Given the description of an element on the screen output the (x, y) to click on. 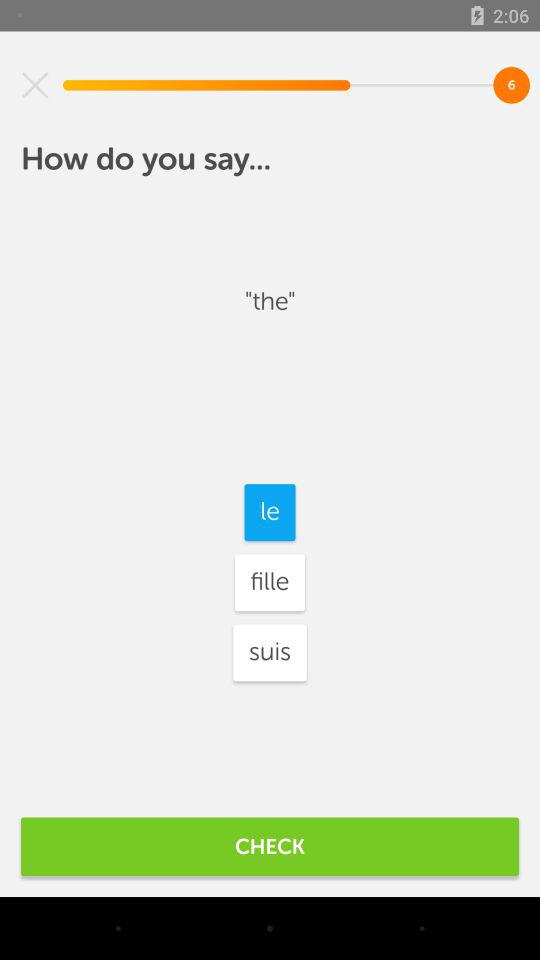
press the icon below fille item (269, 652)
